Given the description of an element on the screen output the (x, y) to click on. 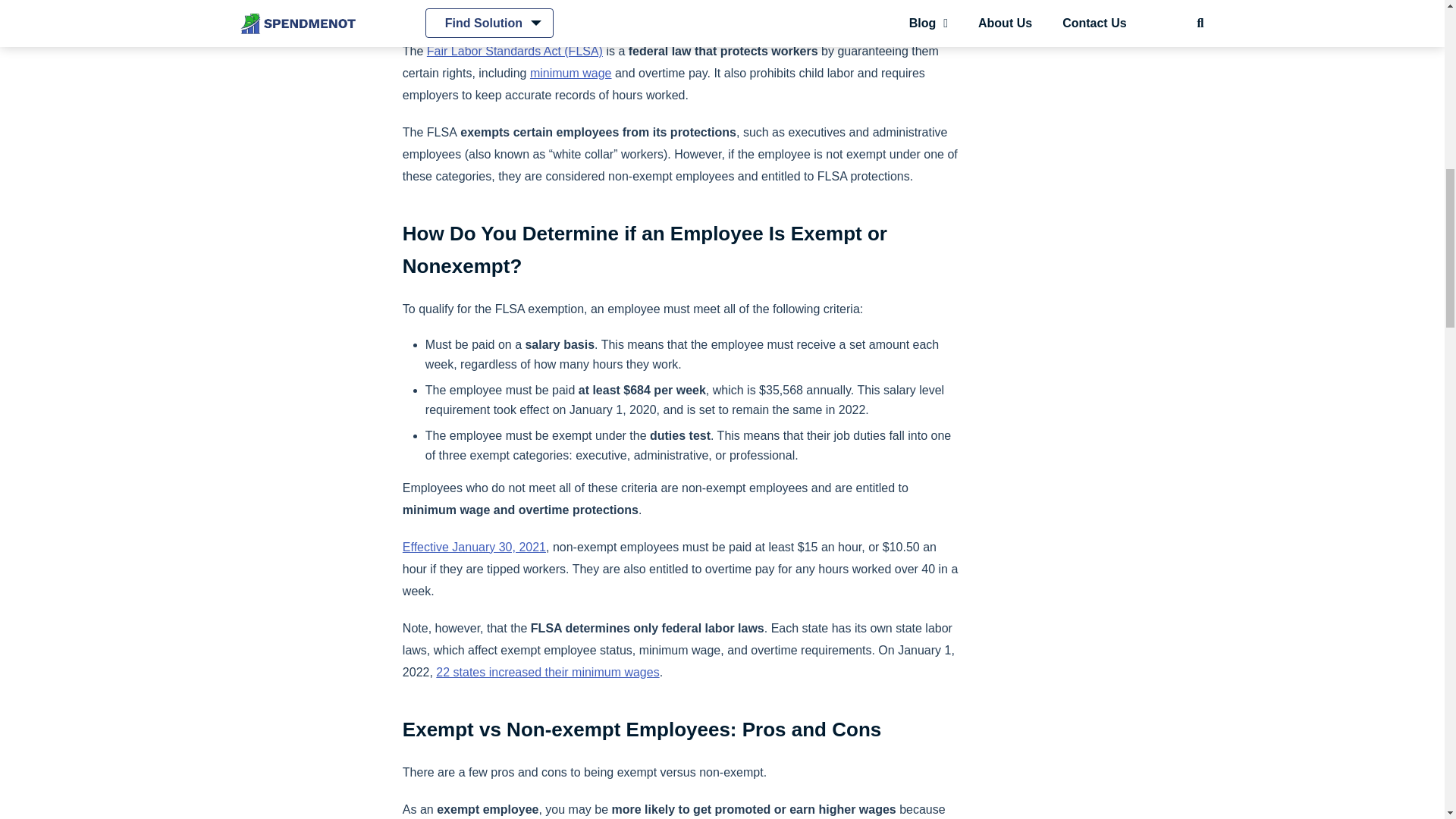
Effective January 30, 2021 (474, 546)
22 states increased their minimum wages (547, 671)
minimum wage (570, 72)
